Given the description of an element on the screen output the (x, y) to click on. 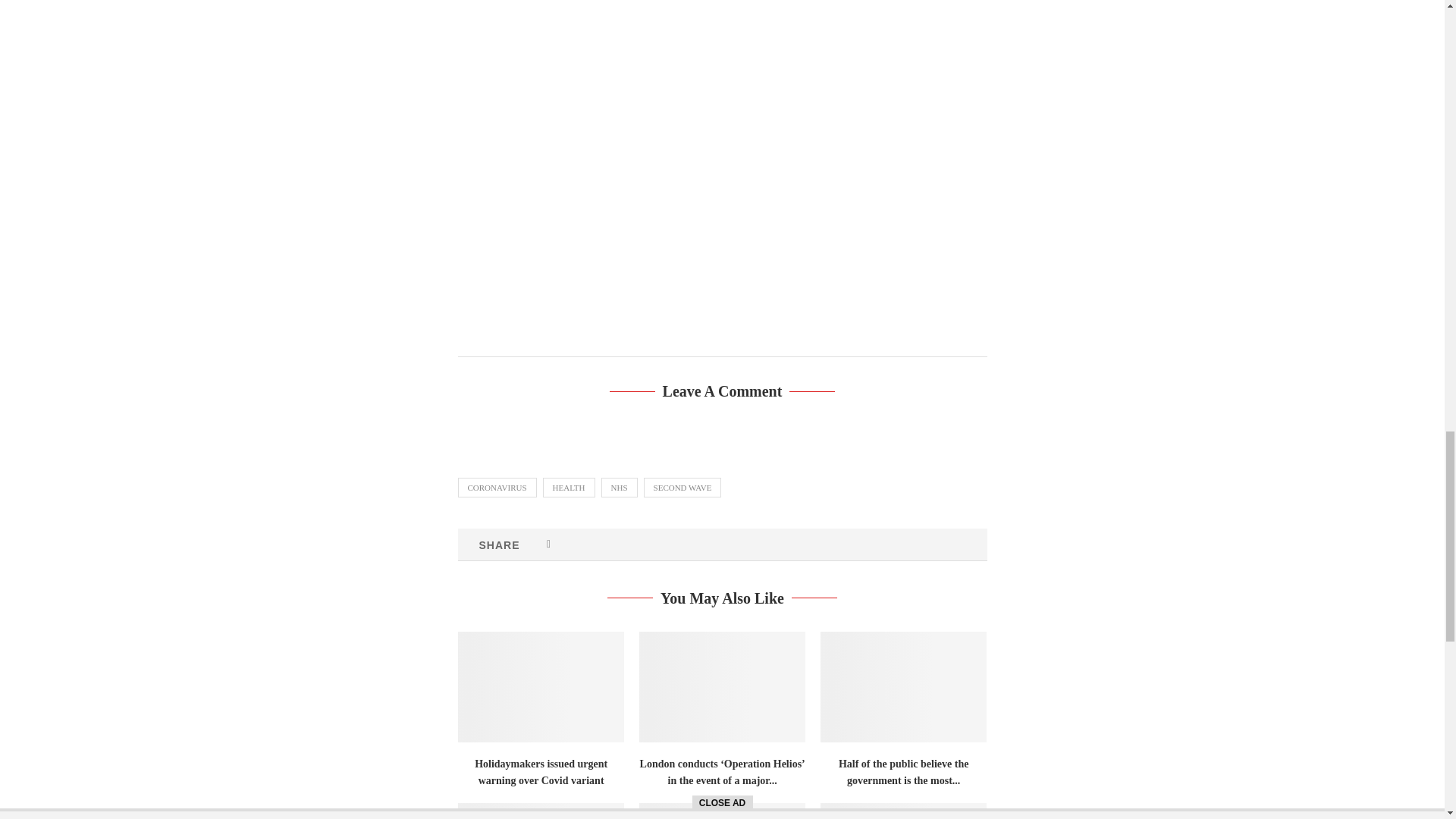
NHS issues urgent plea for blood donation after cyber attack (904, 811)
Holidaymakers issued urgent warning over Covid variant (541, 686)
